Given the description of an element on the screen output the (x, y) to click on. 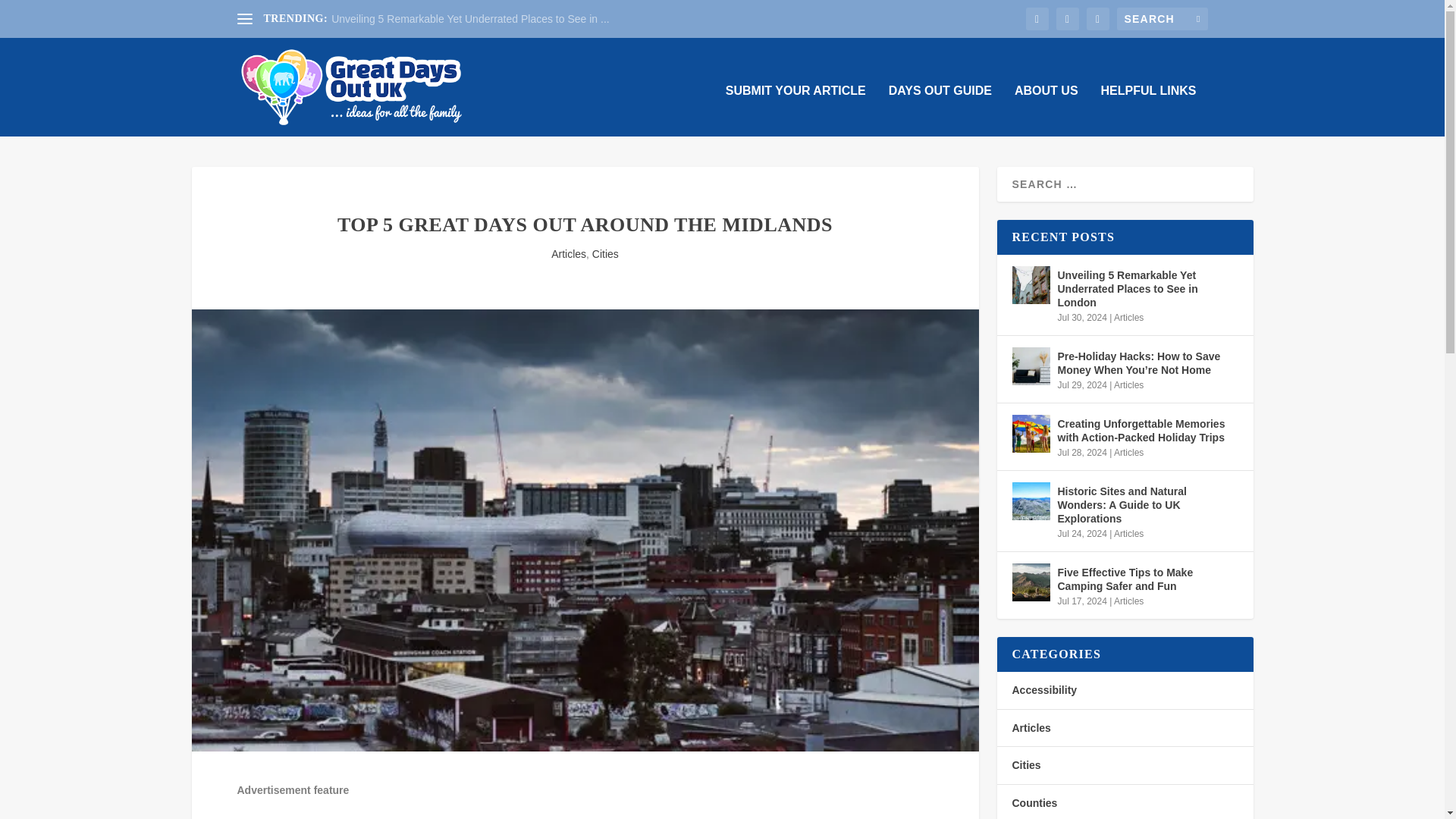
Articles (1127, 601)
Cities (605, 254)
Articles (1127, 533)
Articles (1127, 385)
Search (31, 13)
Search for: (1161, 18)
Five Effective Tips to Make Camping Safer and Fun (1147, 579)
Five Effective Tips to Make Camping Safer and Fun (1030, 582)
Articles (568, 254)
Unveiling 5 Remarkable Yet Underrated Places to See in ... (470, 19)
Accessibility (1044, 689)
